Given the description of an element on the screen output the (x, y) to click on. 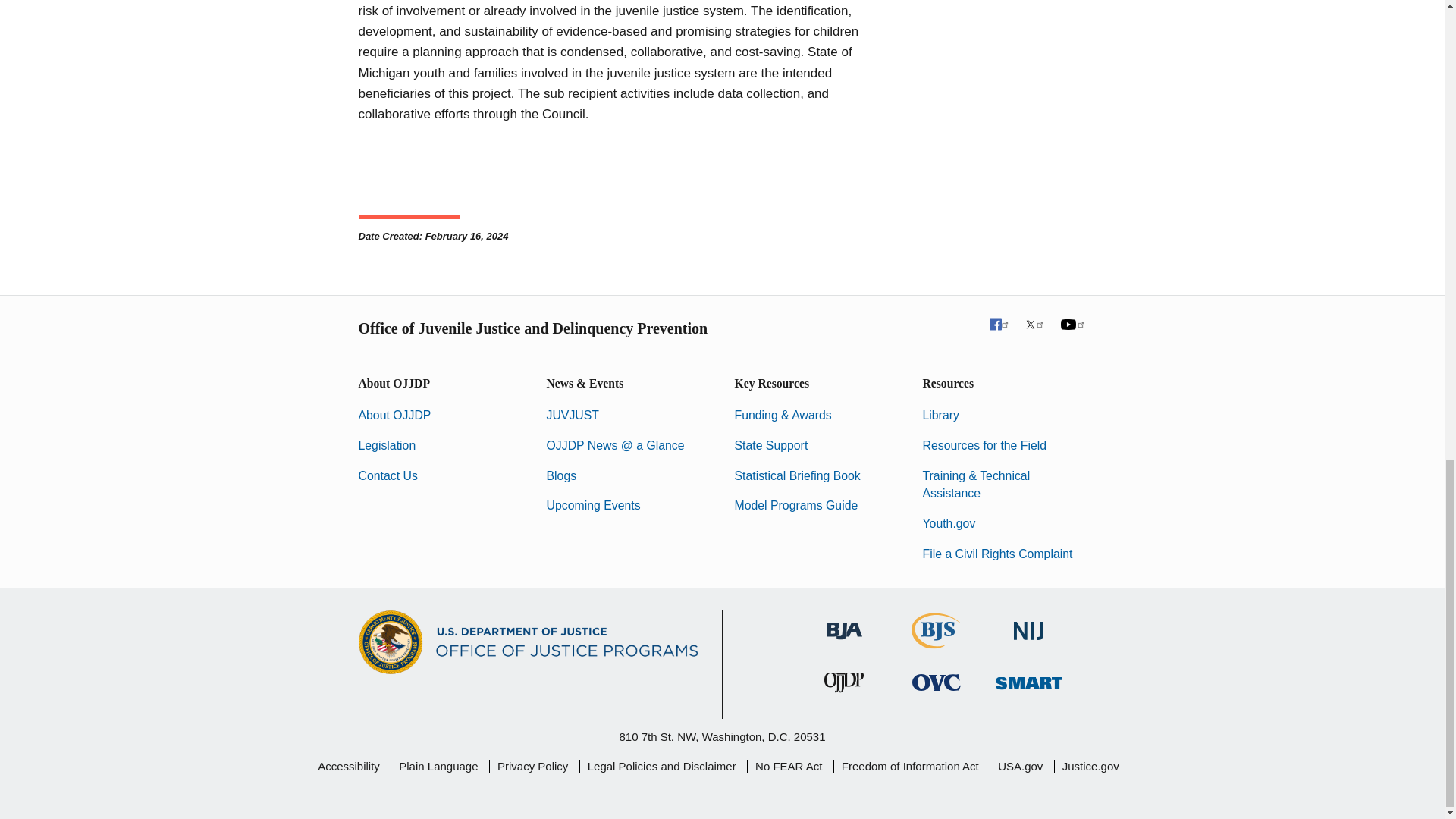
About OJJDP (394, 414)
Contact Us (387, 475)
Legislation (386, 445)
